Given the description of an element on the screen output the (x, y) to click on. 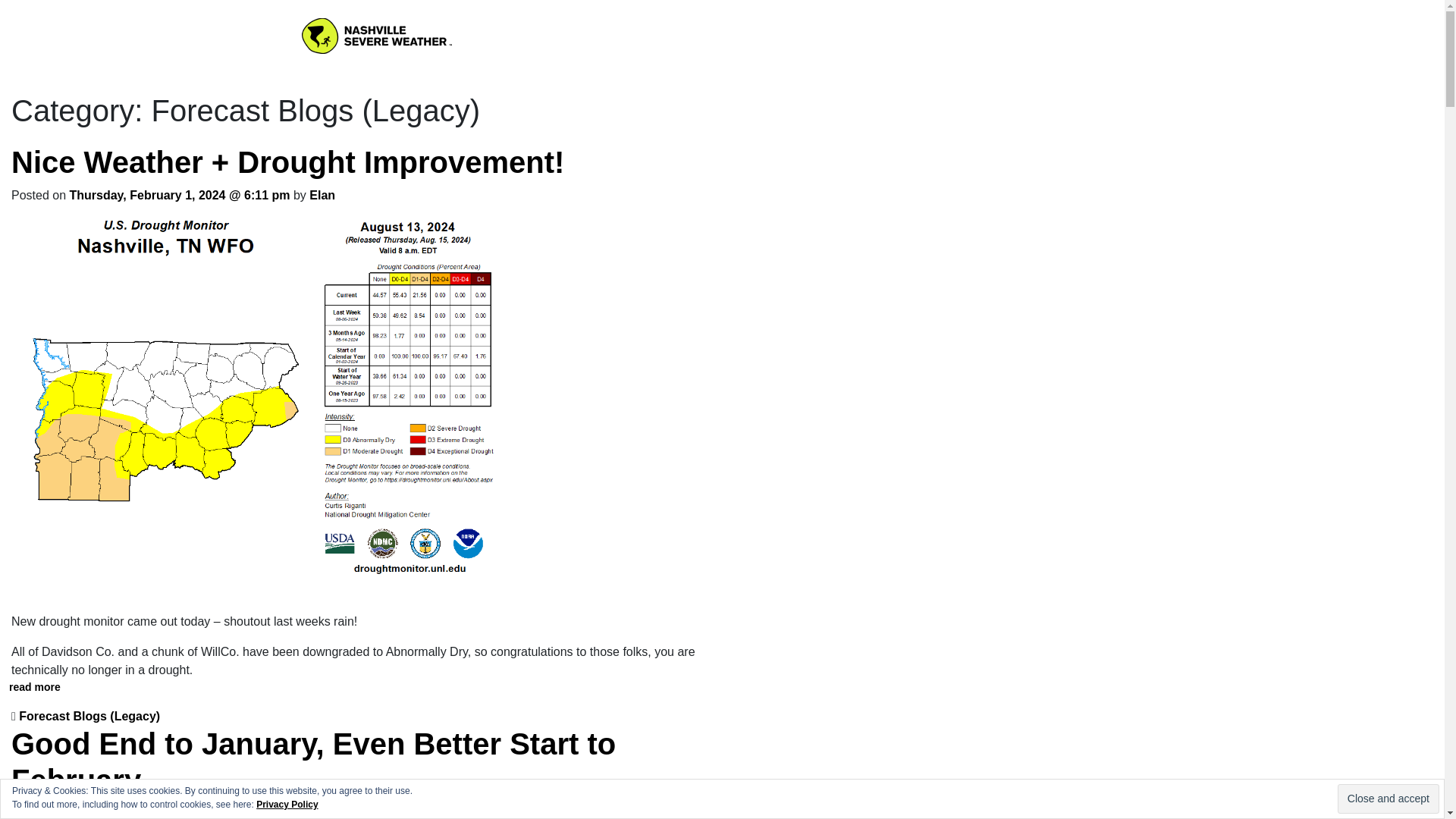
Elan (321, 195)
6:11 pm (179, 195)
View all posts by Elan (321, 195)
Good End to January, Even Better Start to February (313, 761)
Elan (326, 812)
Close and accept (1388, 798)
6:20 pm (181, 812)
View all posts by Elan (326, 812)
read more (34, 686)
